Given the description of an element on the screen output the (x, y) to click on. 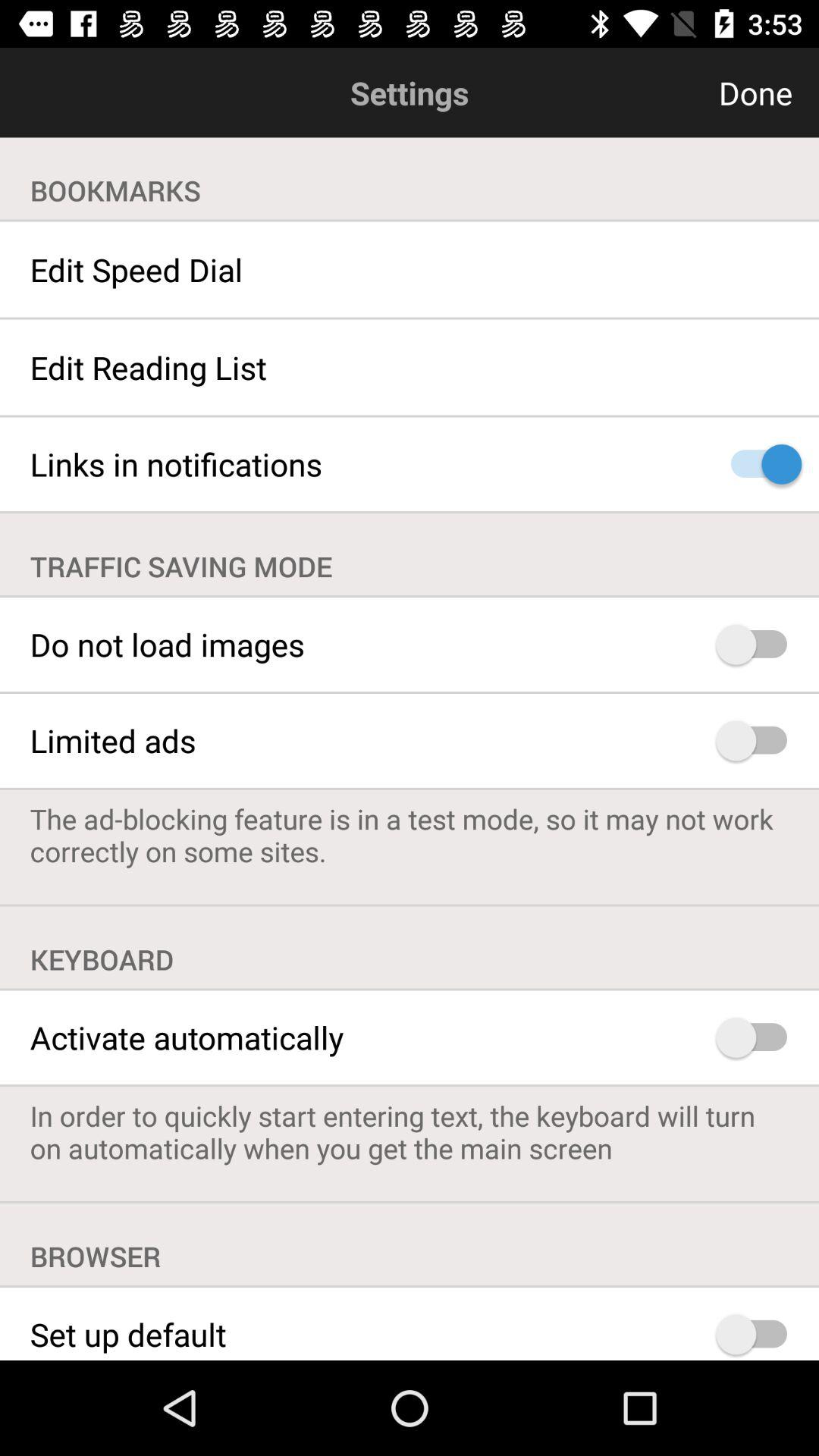
toggle activate automatically on and off (758, 1037)
